Given the description of an element on the screen output the (x, y) to click on. 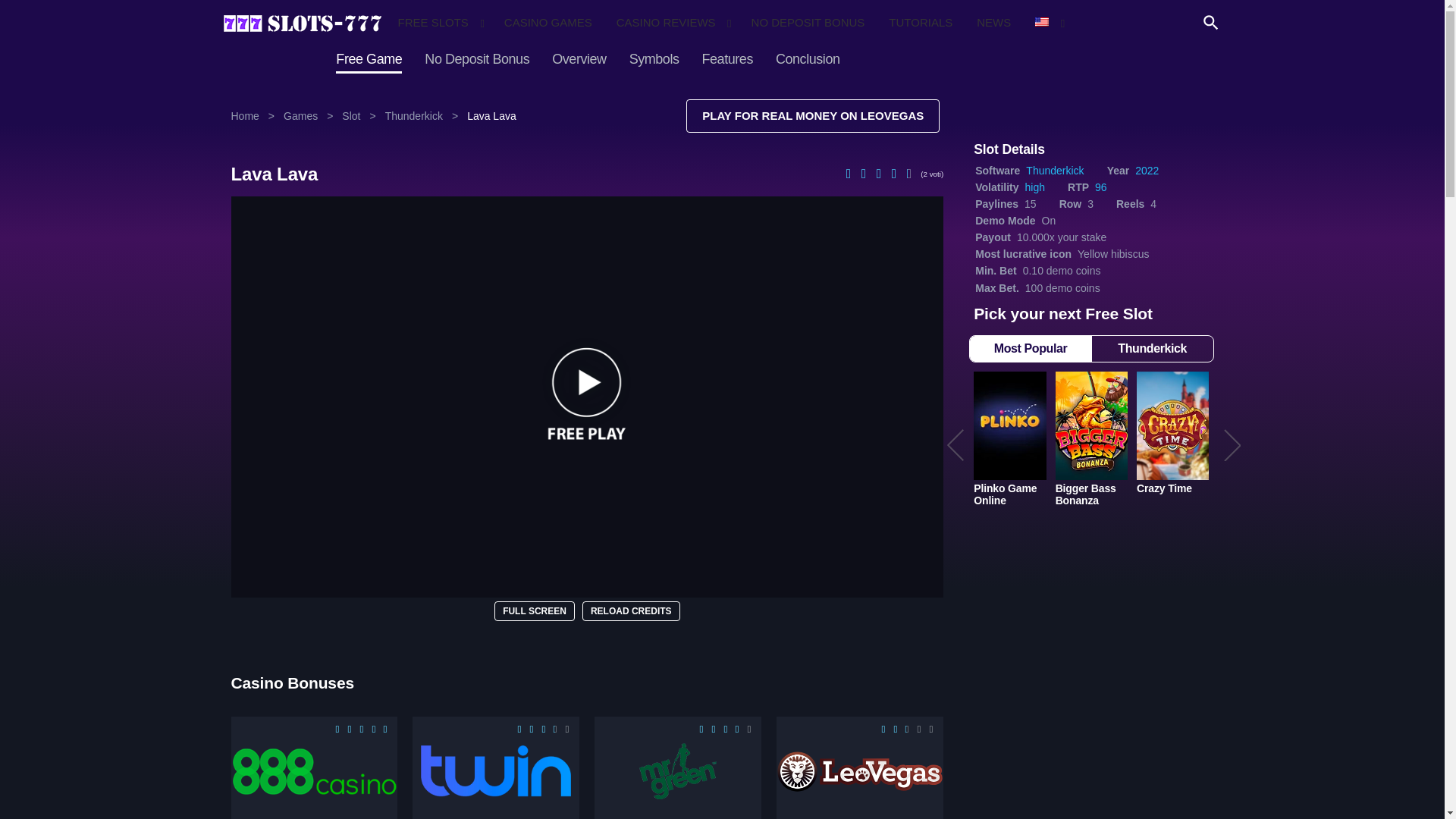
Playtech (740, 60)
Playson (859, 60)
Tuko Productions (981, 60)
FREE SLOTS (438, 22)
Novomatic (621, 60)
